Given the description of an element on the screen output the (x, y) to click on. 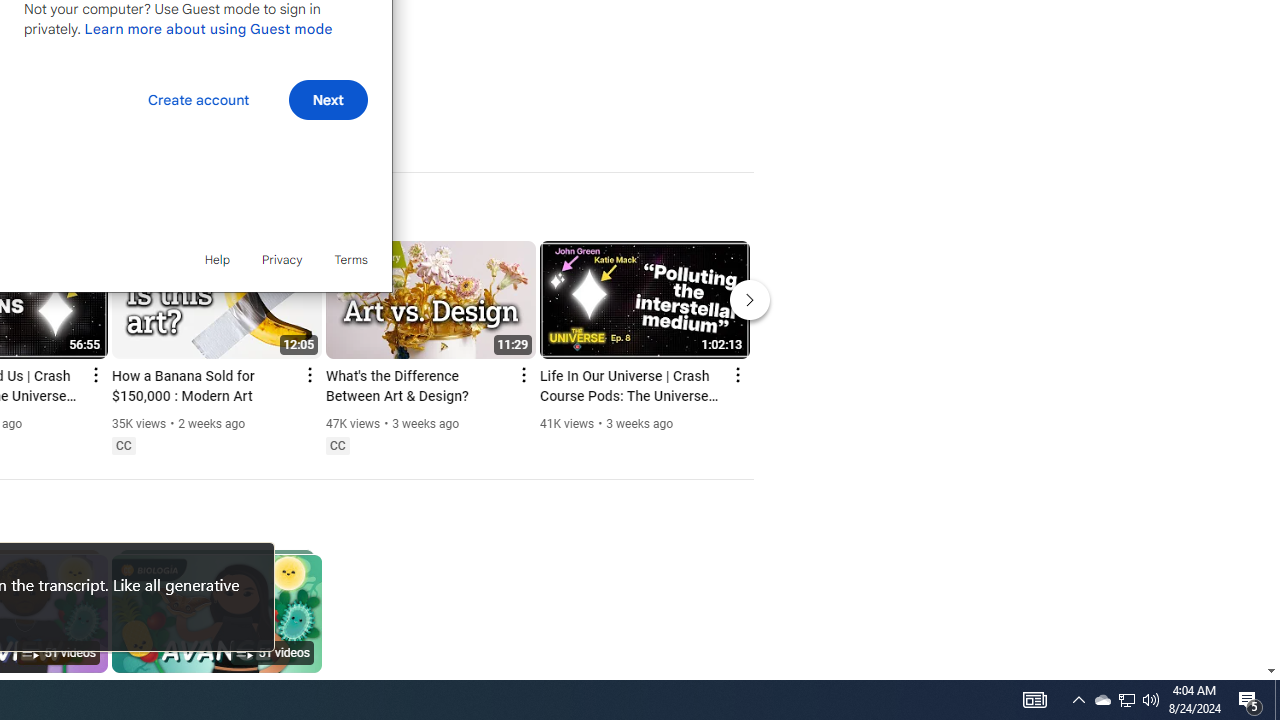
Action Center, 5 new notifications (1250, 699)
AutomationID: 4105 (1034, 699)
Learn more about using Guest mode (208, 28)
Create account (198, 99)
